Given the description of an element on the screen output the (x, y) to click on. 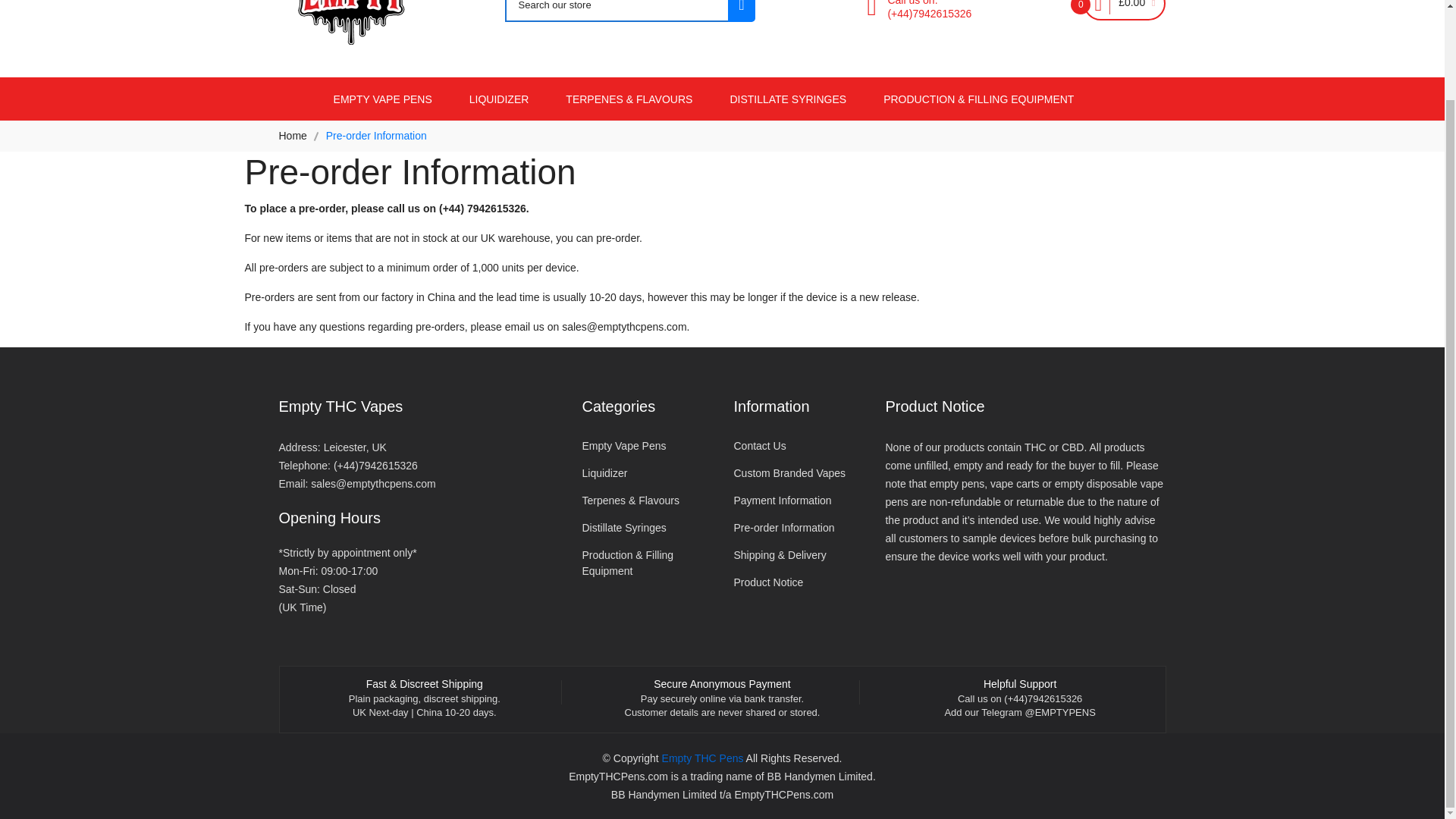
LIQUIDIZER (498, 99)
EMPTY VAPE PENS (382, 99)
Custom Branded Vapes (797, 473)
Liquidizer (645, 473)
Back to the home page (293, 135)
DISTILLATE SYRINGES (787, 99)
Empty THC Pens (703, 758)
Pre-order Information (797, 528)
Empty Vape Pens (645, 446)
Contact Us (797, 446)
